Given the description of an element on the screen output the (x, y) to click on. 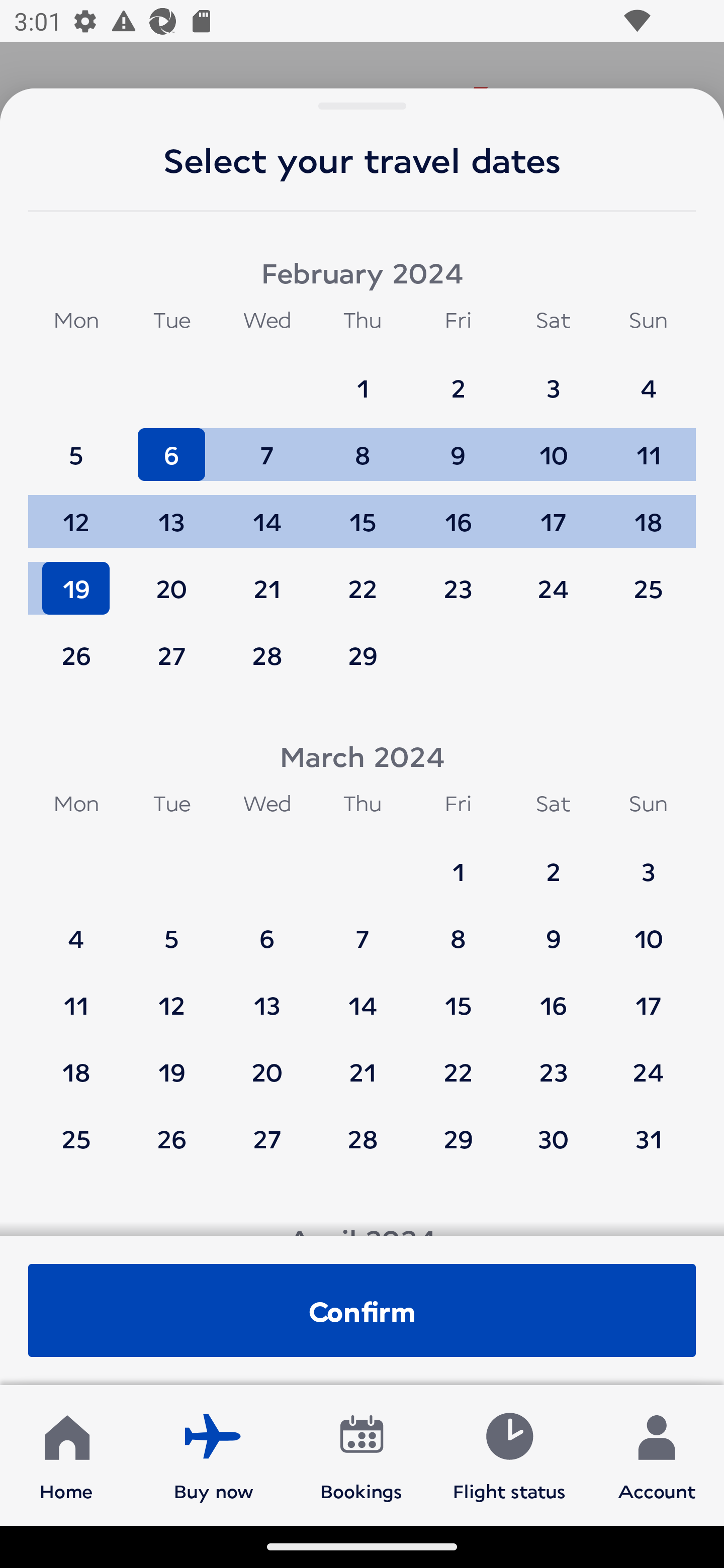
1 (362, 379)
2 (458, 379)
3 (553, 379)
4 (647, 379)
5 (75, 445)
6 (171, 445)
7 (266, 445)
8 (362, 445)
9 (458, 445)
10 (553, 445)
11 (647, 445)
12 (75, 512)
13 (171, 512)
14 (266, 512)
15 (362, 512)
16 (458, 512)
17 (553, 512)
18 (647, 512)
19 (75, 579)
20 (171, 579)
21 (266, 579)
22 (362, 579)
23 (458, 579)
24 (553, 579)
25 (647, 579)
26 (75, 655)
27 (171, 655)
28 (266, 655)
29 (362, 655)
1 (458, 862)
2 (553, 862)
3 (647, 862)
4 (75, 928)
5 (171, 928)
6 (266, 928)
7 (362, 928)
8 (458, 928)
9 (553, 928)
10 (647, 928)
11 (75, 996)
12 (171, 996)
13 (266, 996)
14 (362, 996)
15 (458, 996)
16 (553, 996)
17 (647, 996)
18 (75, 1063)
19 (171, 1063)
20 (266, 1063)
21 (362, 1063)
22 (458, 1063)
23 (553, 1063)
24 (647, 1063)
25 (75, 1138)
26 (171, 1138)
27 (266, 1138)
28 (362, 1138)
29 (458, 1138)
30 (553, 1138)
31 (647, 1138)
Confirm (361, 1309)
Home (66, 1454)
Bookings (361, 1454)
Flight status (509, 1454)
Account (657, 1454)
